Given the description of an element on the screen output the (x, y) to click on. 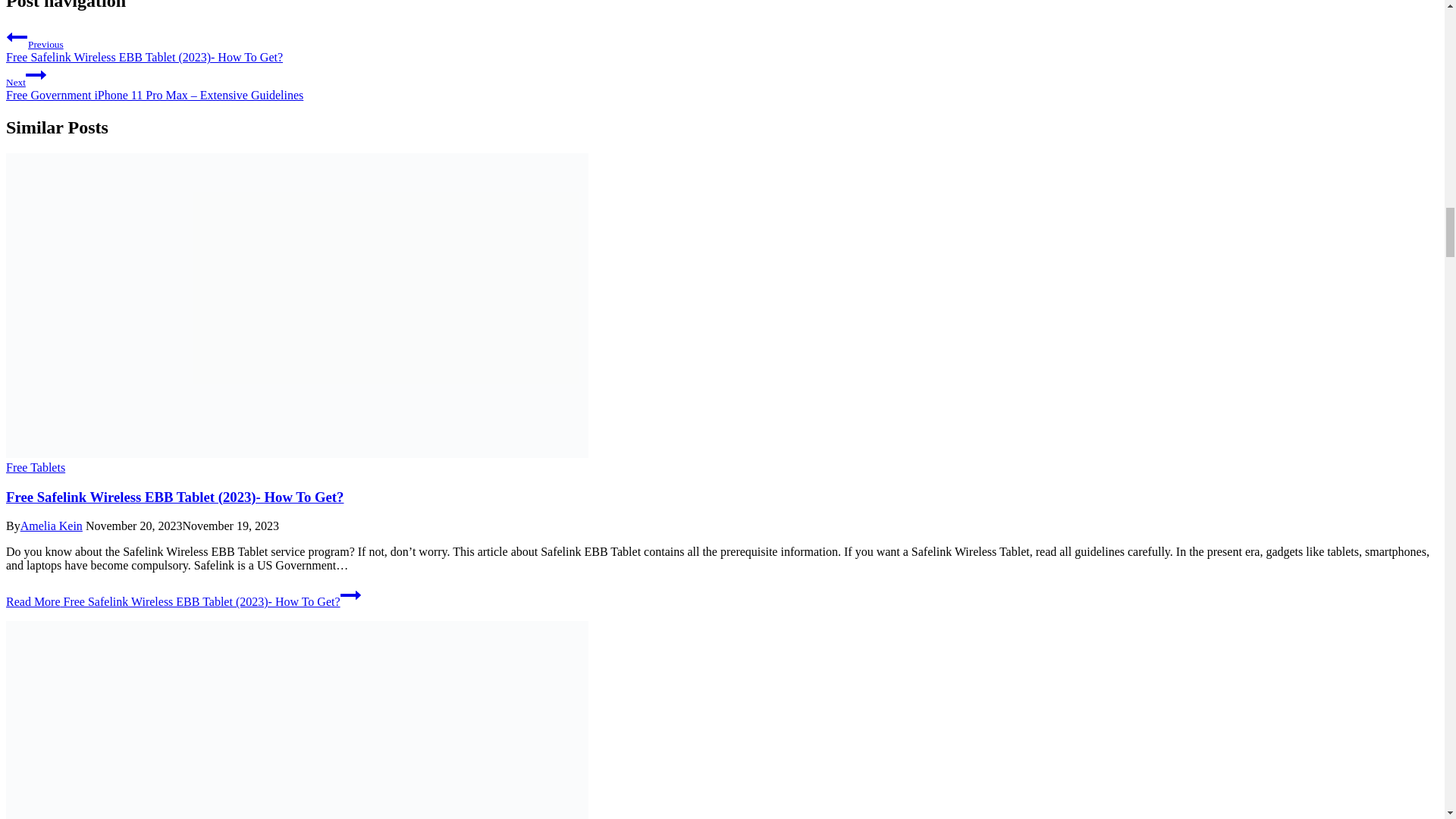
Continue (36, 74)
Get Free Government Tablet Assurance Wireless in 2023 2 (296, 719)
Previous (16, 36)
Continue (350, 595)
